Given the description of an element on the screen output the (x, y) to click on. 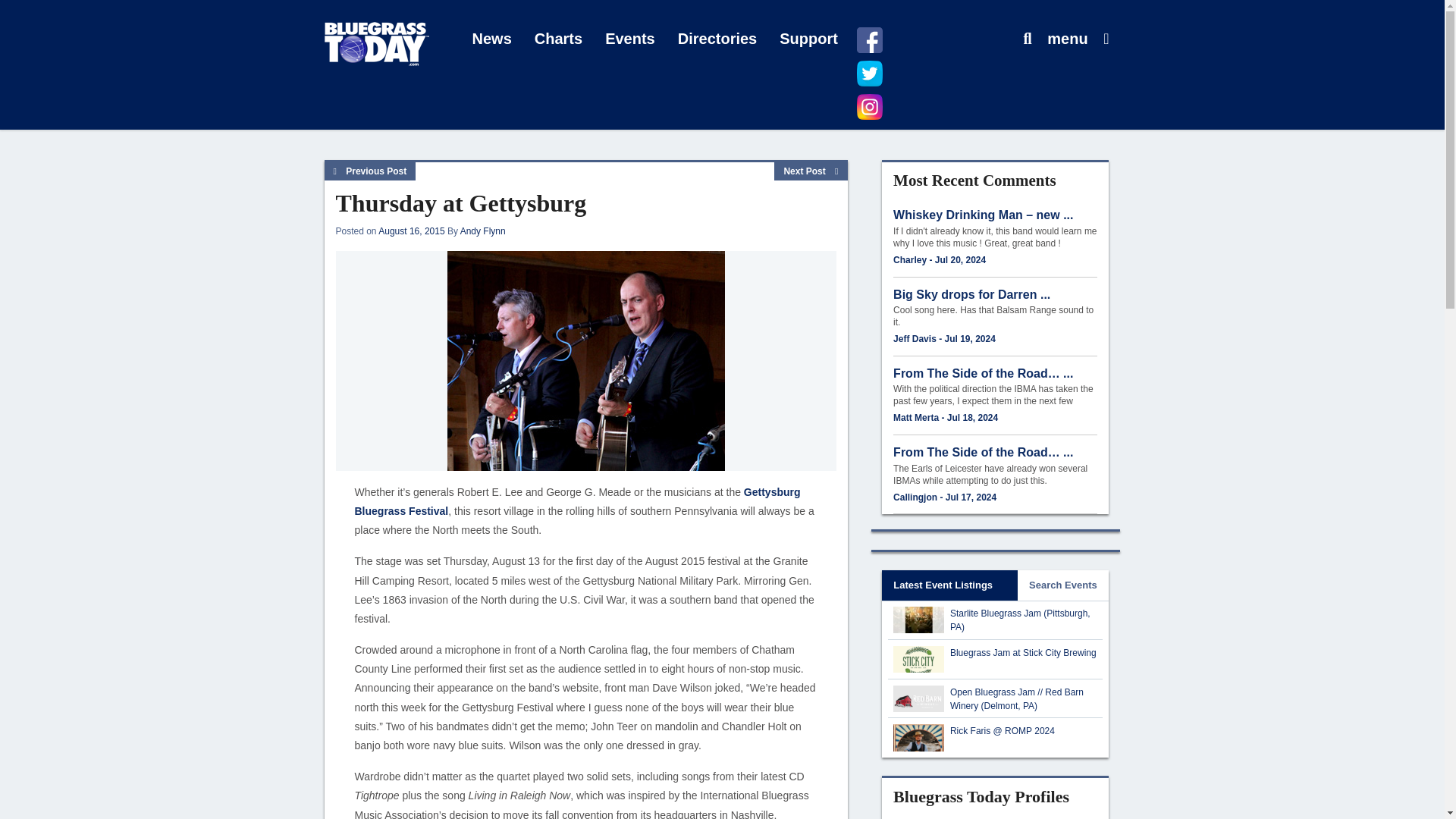
Andy Flynn (482, 231)
August 16, 2015 (411, 231)
Support (808, 39)
Charts (558, 39)
News (491, 39)
Events (630, 39)
Next Post (810, 171)
menu (1066, 39)
Previous Post (370, 171)
Gettysburg Bluegrass Festival (577, 501)
Directories (717, 39)
